Given the description of an element on the screen output the (x, y) to click on. 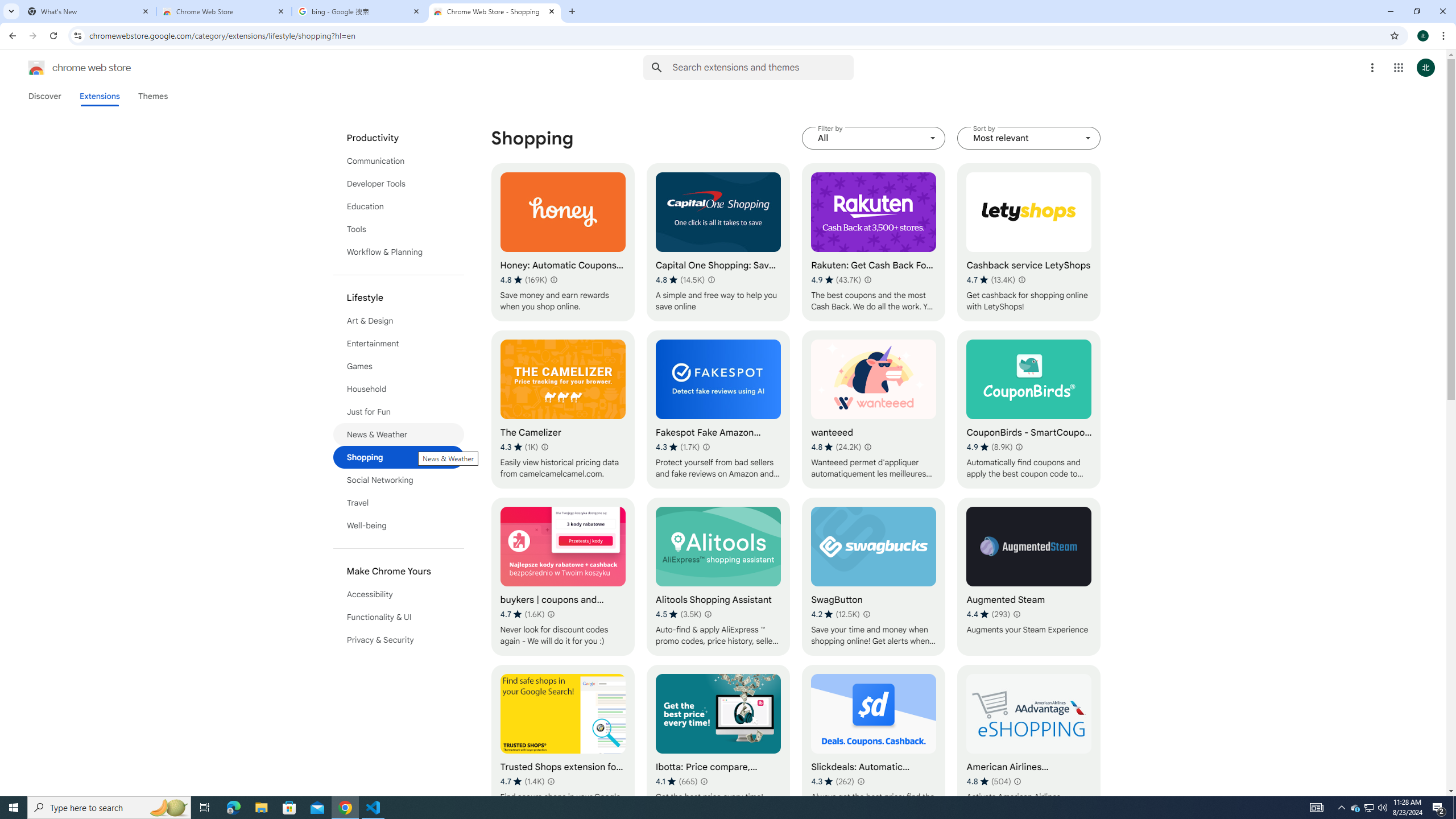
Learn more about results and reviews "Augmented Steam" (1016, 613)
More options menu (1372, 67)
Fakespot Fake Amazon Reviews and eBay Sellers (718, 409)
Well-being (398, 525)
Functionality & UI (398, 617)
Average rating 4.8 out of 5 stars. 169K ratings. (523, 279)
List of categories in Chrome Web Store. (398, 388)
Discover (43, 95)
